Given the description of an element on the screen output the (x, y) to click on. 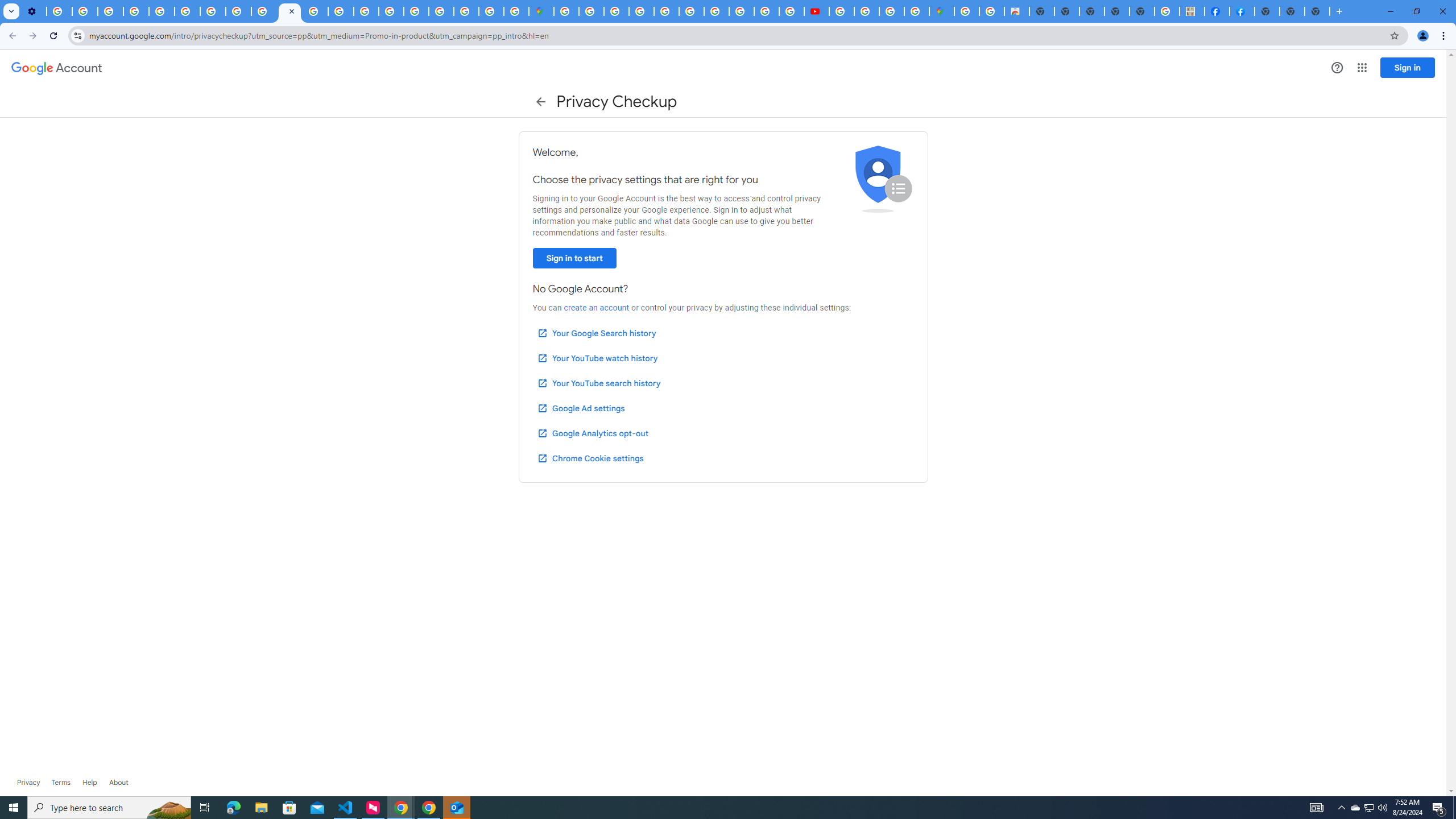
MILEY CYRUS. (1191, 11)
Google Analytics opt-out (592, 433)
Terms and Conditions (666, 11)
Subscriptions - YouTube (816, 11)
Privacy Help Center - Policies Help (161, 11)
Sign Up for Facebook (1241, 11)
New Tab (1317, 11)
Google Account settings (56, 68)
Google Ad settings (580, 408)
